Given the description of an element on the screen output the (x, y) to click on. 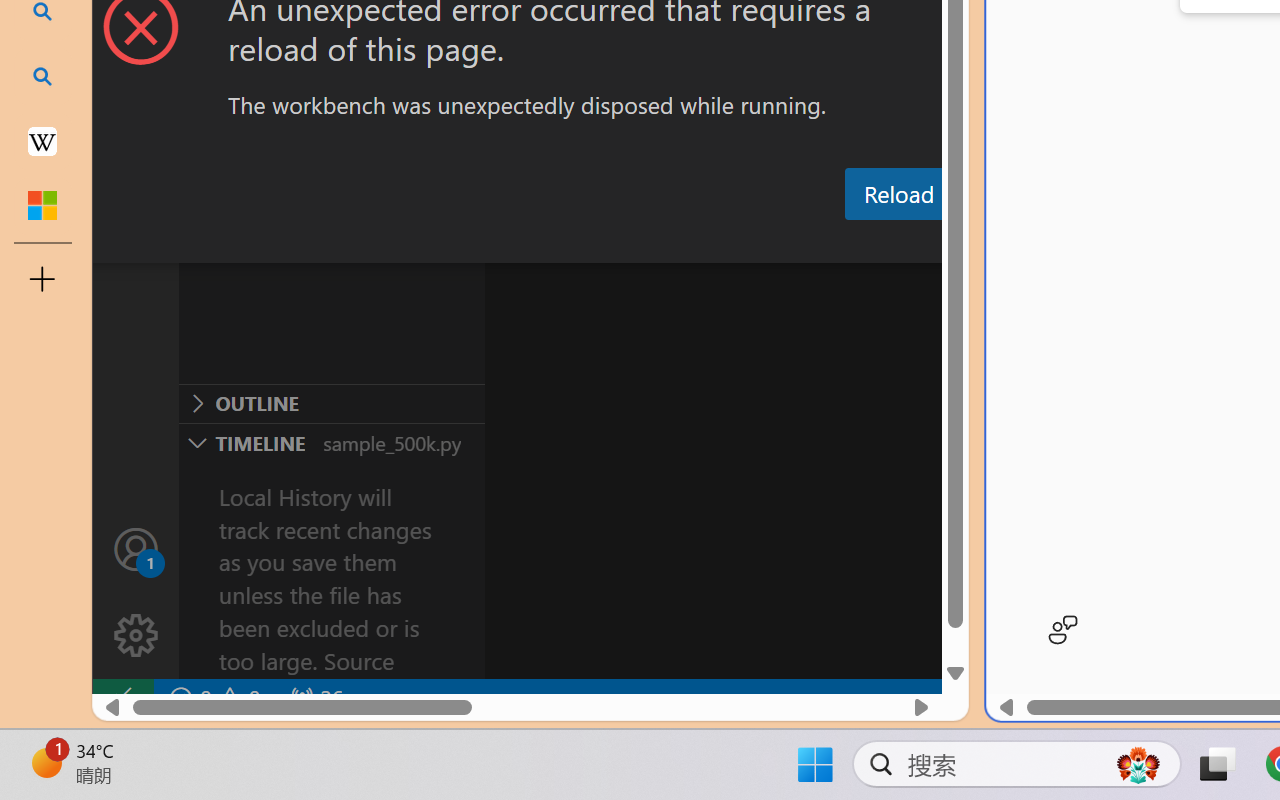
Manage (135, 635)
Outline Section (331, 403)
Earth - Wikipedia (42, 140)
Debug Console (Ctrl+Shift+Y) (854, 243)
Accounts - Sign in requested (135, 548)
Manage (135, 591)
